Given the description of an element on the screen output the (x, y) to click on. 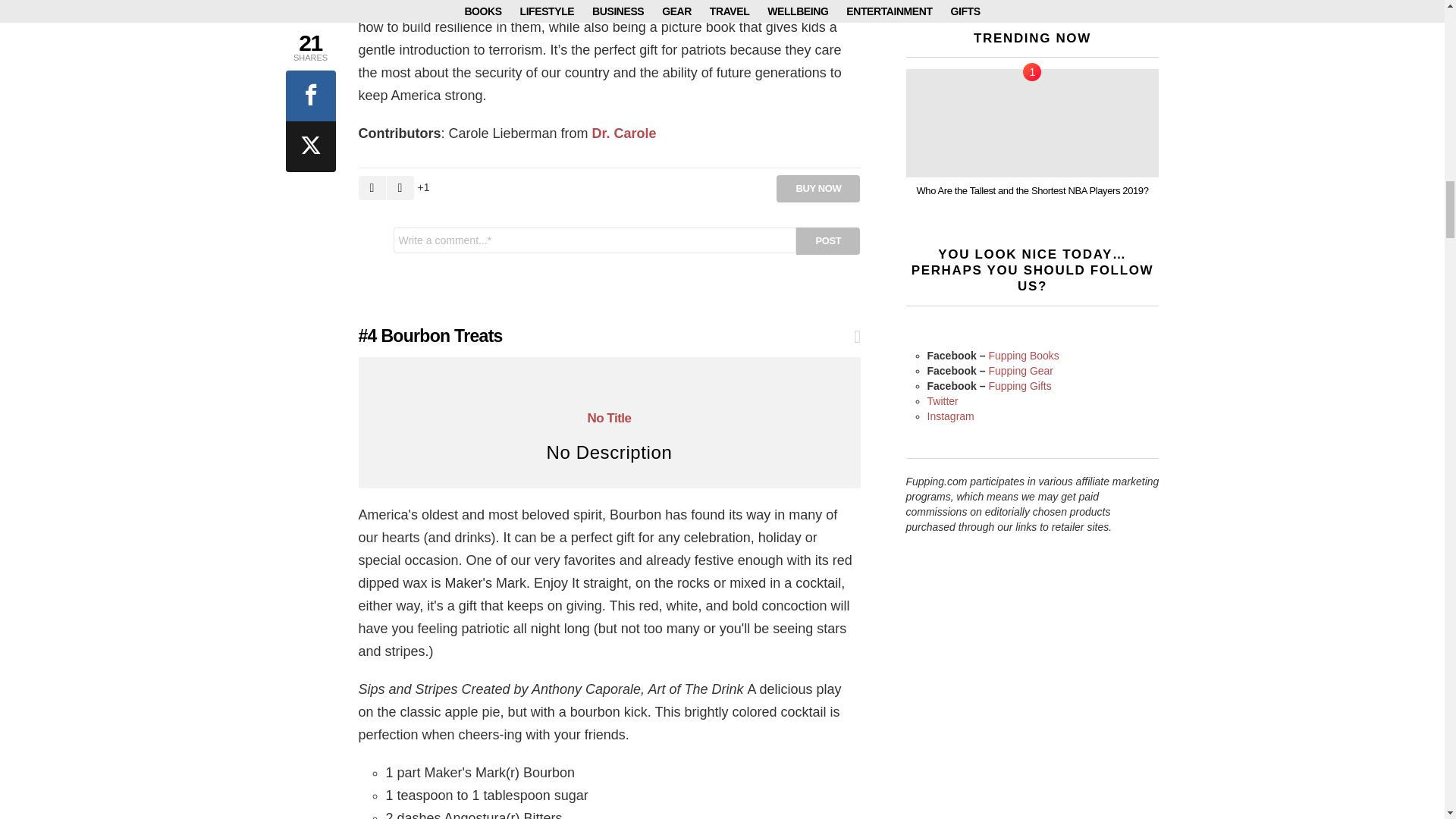
Post (828, 240)
